Given the description of an element on the screen output the (x, y) to click on. 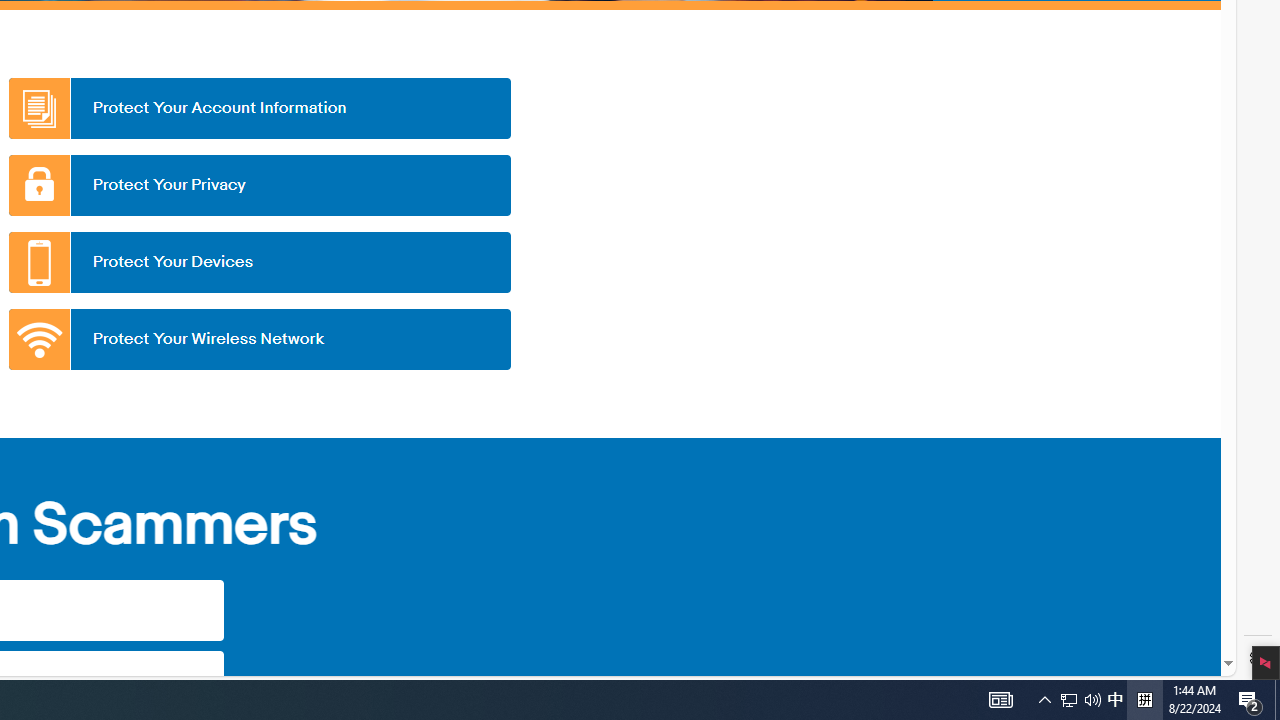
Protect Your Account Information (259, 107)
Protect Your Devices (259, 262)
Protect Your Wireless Network (259, 339)
Protect Your Privacy (259, 185)
